Given the description of an element on the screen output the (x, y) to click on. 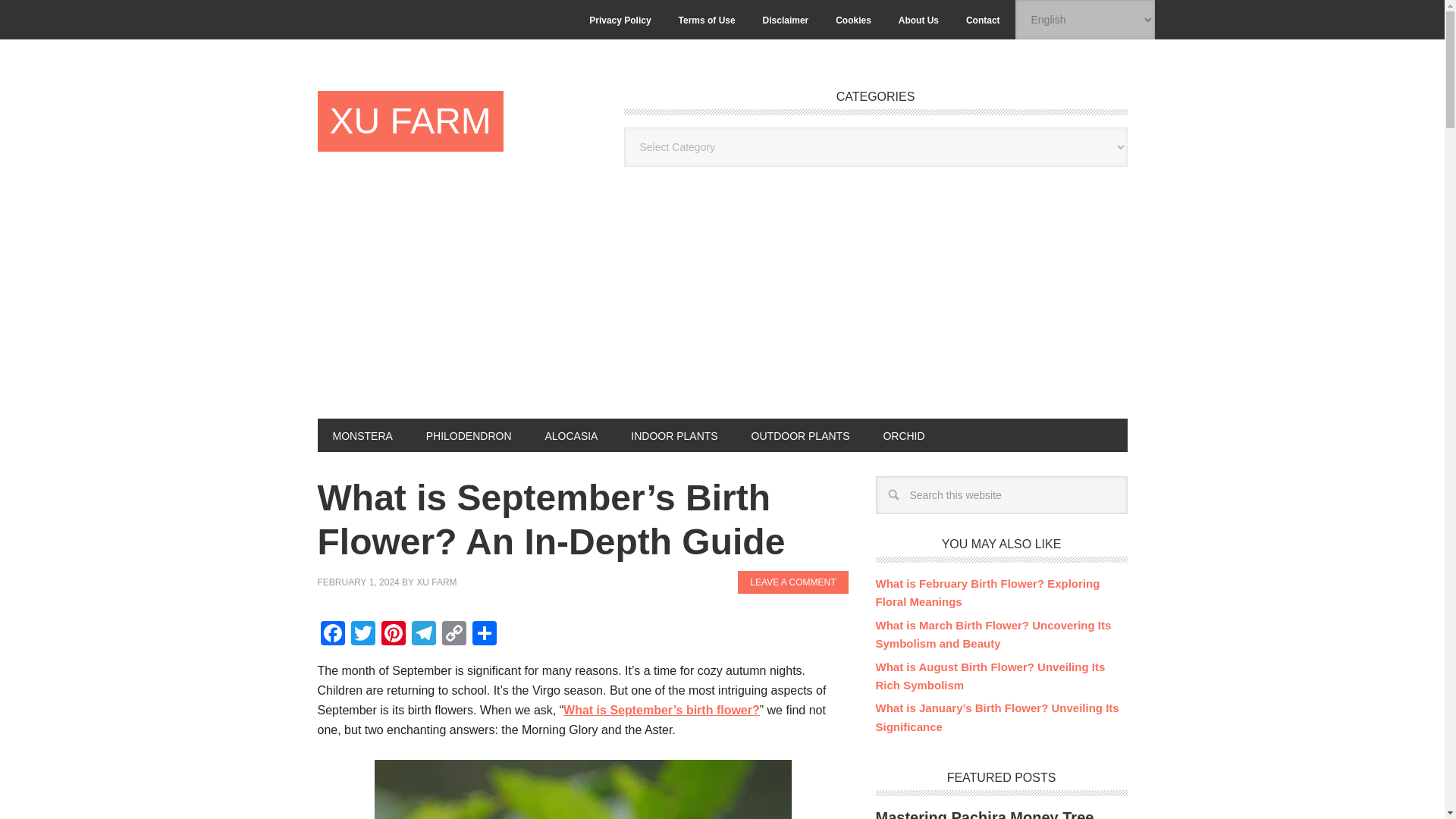
Privacy Policy (619, 20)
Telegram (422, 634)
ORCHID (903, 435)
MONSTERA (362, 435)
XU FARM (436, 582)
PHILODENDRON (468, 435)
Share (483, 634)
Terms of Use (707, 20)
Facebook (332, 634)
Pinterest (392, 634)
Copy Link (453, 634)
Telegram (422, 634)
About Us (918, 20)
Pinterest (392, 634)
